Given the description of an element on the screen output the (x, y) to click on. 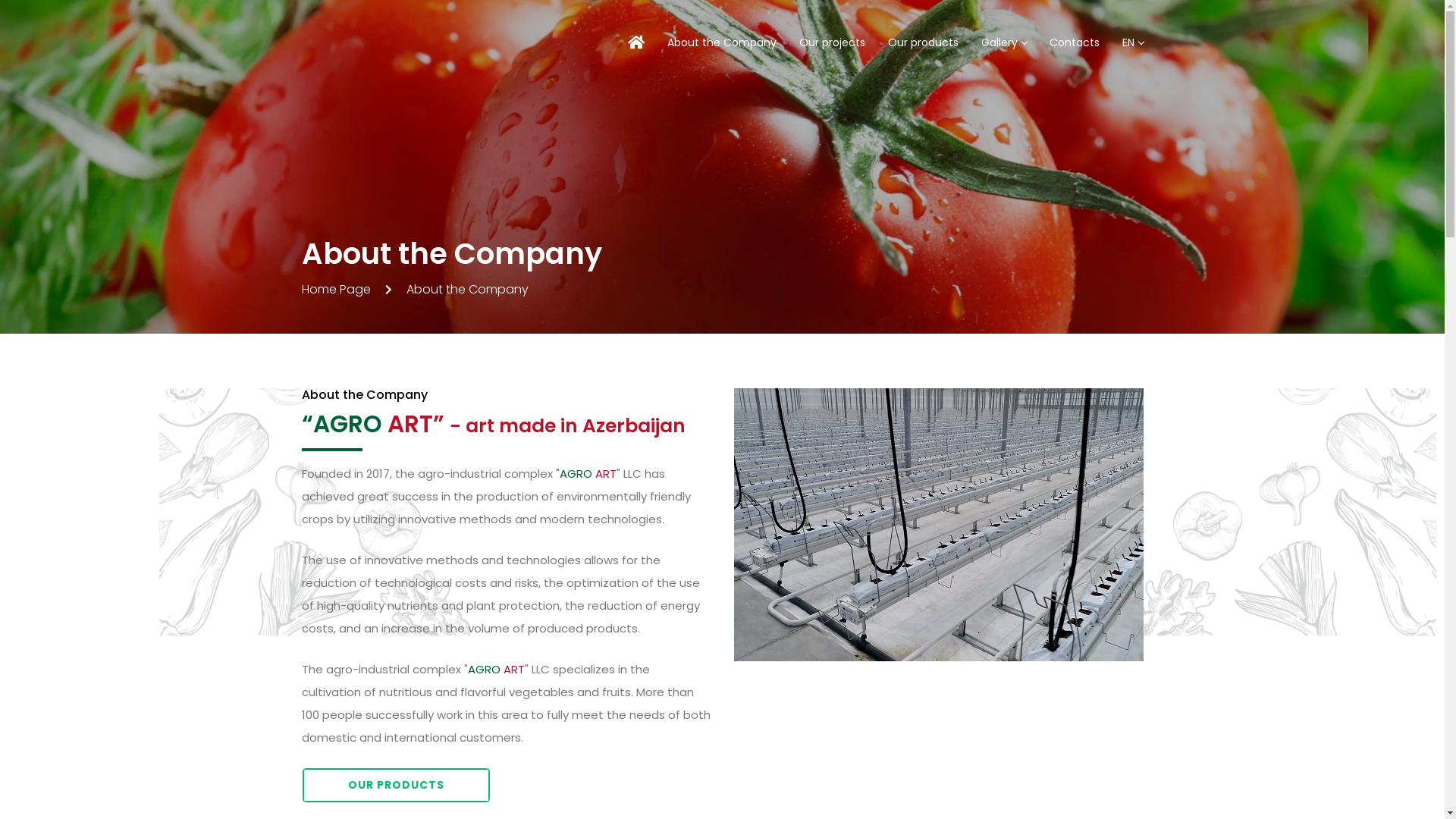
Contacts Element type: text (1073, 41)
Our products Element type: text (922, 41)
OUR PRODUCTS Element type: text (395, 785)
Gallery Element type: text (1003, 41)
Our projects Element type: text (831, 41)
About the Company Element type: text (721, 41)
EN Element type: text (1132, 41)
Home Page Element type: text (335, 289)
